Given the description of an element on the screen output the (x, y) to click on. 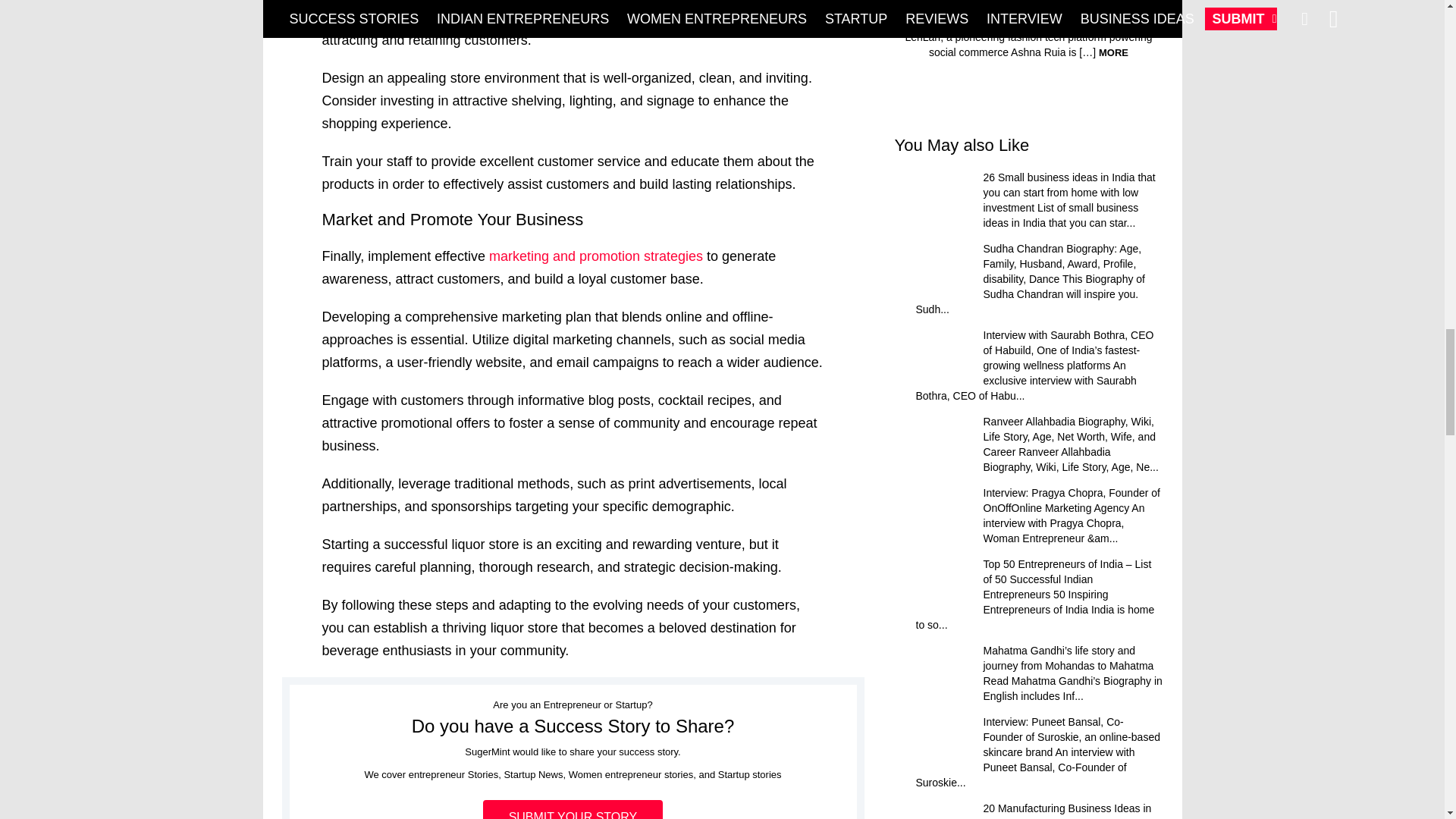
marketing and promotion strategies (596, 255)
SUBMIT YOUR STORY (573, 809)
